Given the description of an element on the screen output the (x, y) to click on. 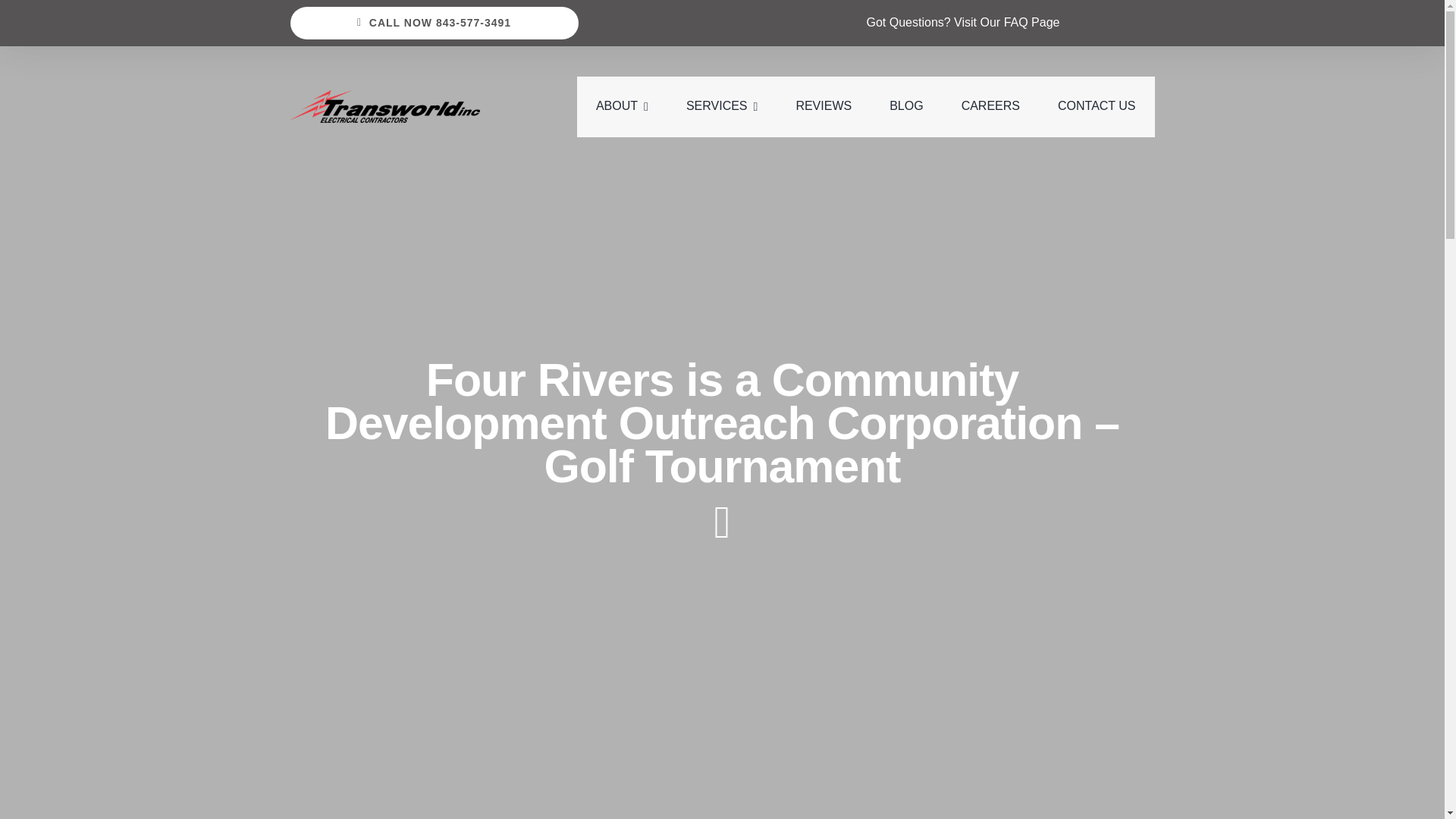
REVIEWS (823, 106)
CONTACT US (1096, 106)
BLOG (906, 106)
CAREERS (990, 106)
ABOUT (621, 106)
FAQ Page (1031, 21)
SERVICES (721, 106)
CALL NOW 843-577-3491 (433, 22)
Transworld Electrical Contractors Logo (384, 106)
